Given the description of an element on the screen output the (x, y) to click on. 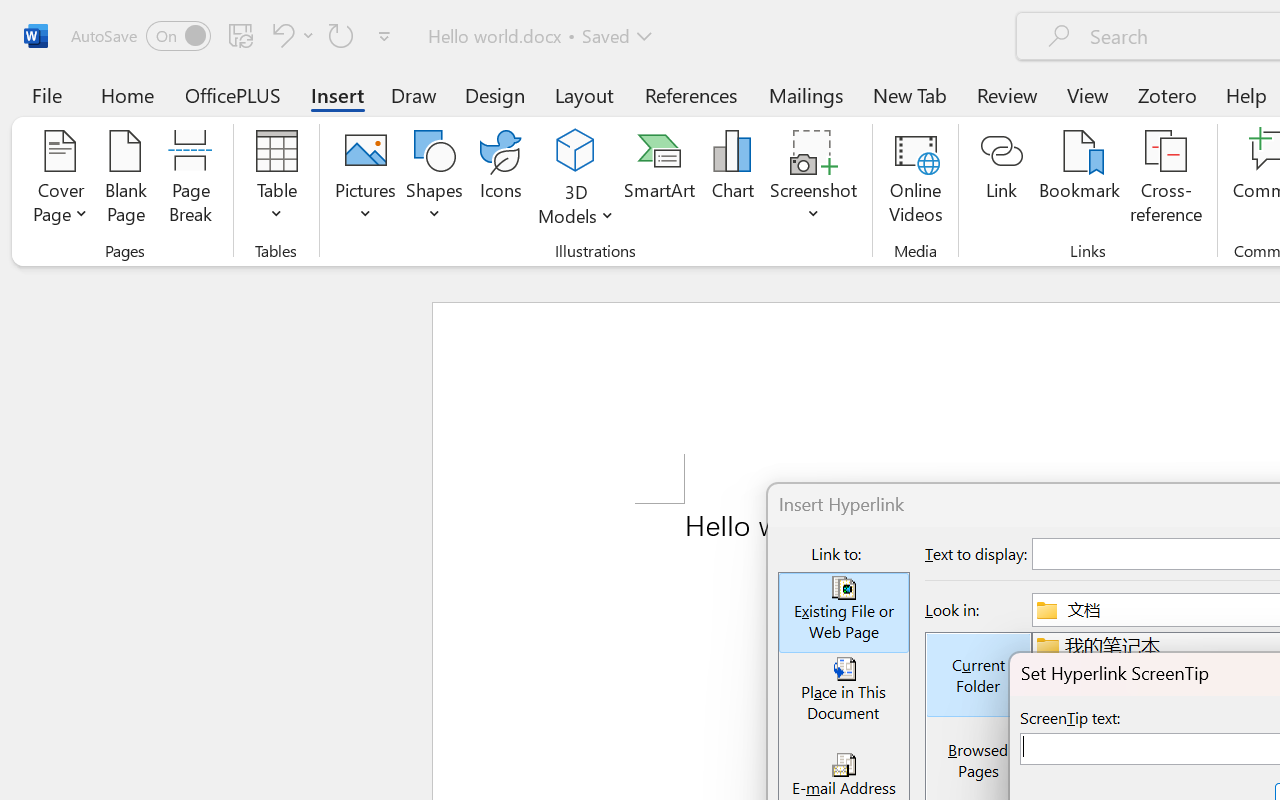
Mailings (806, 94)
OfficePLUS (233, 94)
Shapes (435, 179)
Zotero (1166, 94)
Page Break (190, 179)
Home (127, 94)
New Tab (909, 94)
Place in This Document (843, 694)
File Tab (46, 94)
References (690, 94)
Cross-reference... (1165, 179)
Pictures (365, 179)
Link (1001, 179)
Bookmark... (1079, 179)
